Given the description of an element on the screen output the (x, y) to click on. 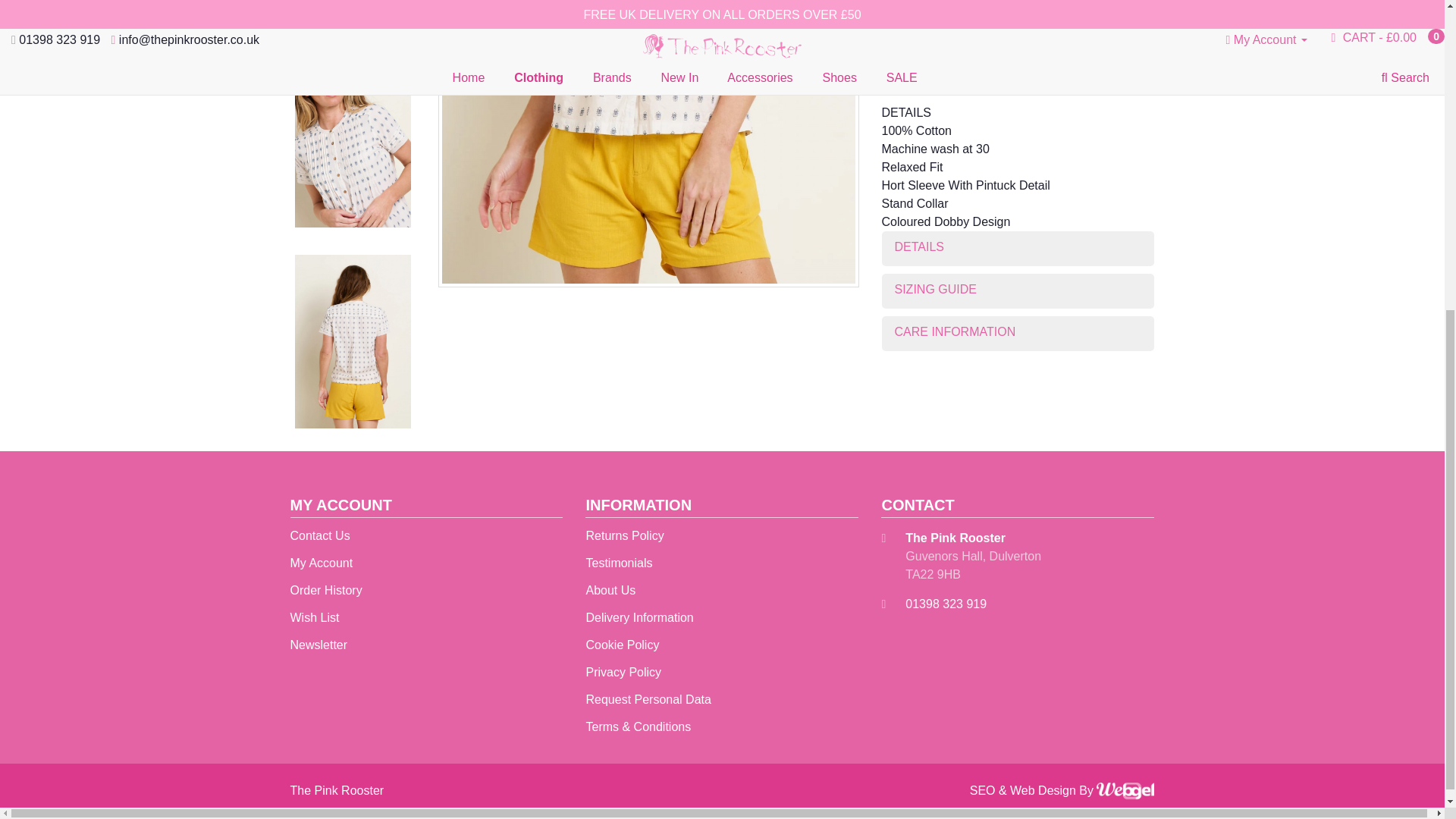
BRAKEBURN ELLA BLOUSE CREAM (648, 143)
BRAKEBURN ELLA BLOUSE CREAM (352, 13)
BRAKEBURN ELLA BLOUSE CREAM (351, 15)
BRAKEBURN ELLA BLOUSE CREAM (647, 141)
